Given the description of an element on the screen output the (x, y) to click on. 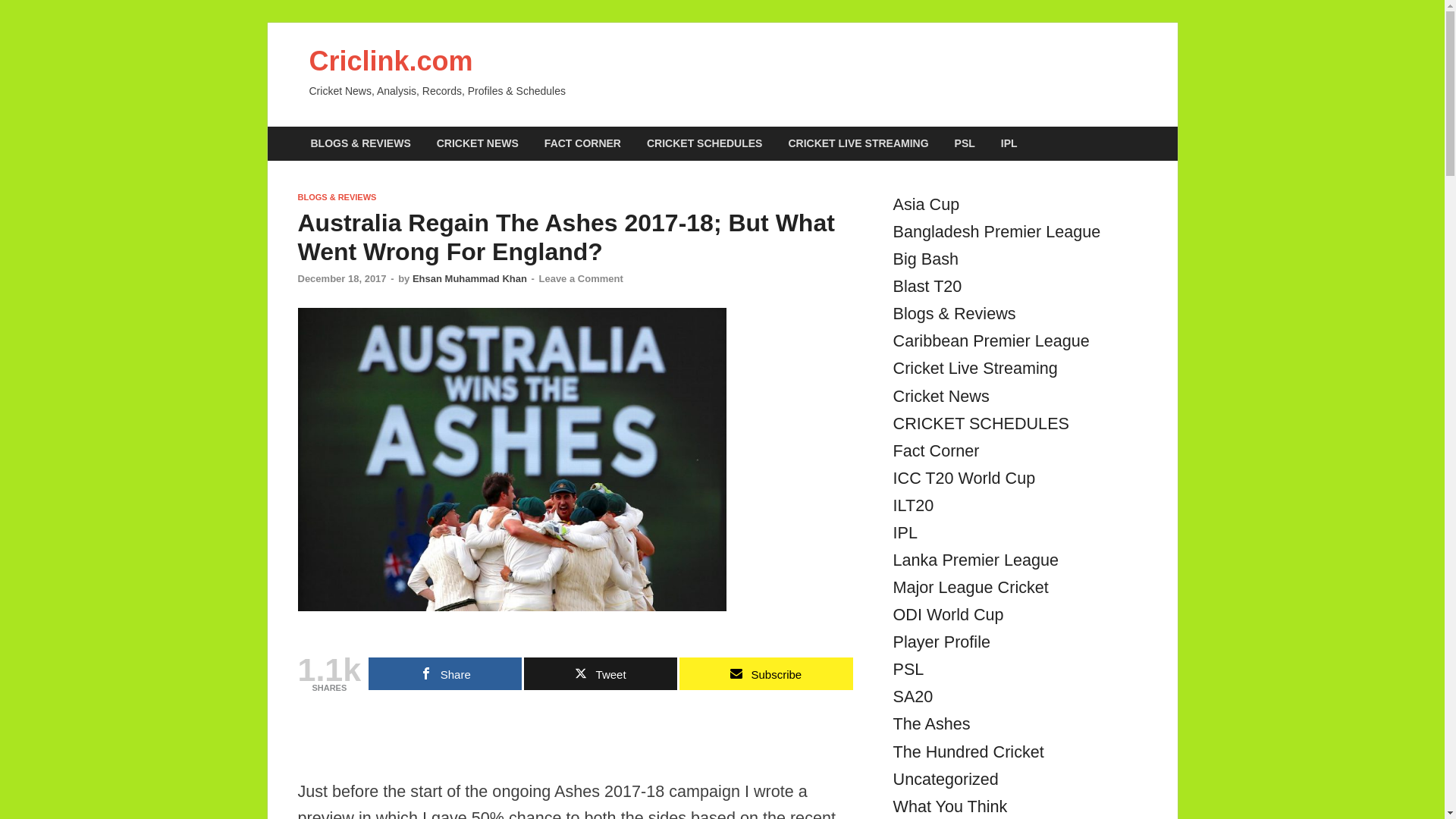
Caribbean Premier League (991, 340)
Cricket Live Streaming (975, 367)
FACT CORNER (582, 143)
Tweet (600, 673)
Criclink.com (390, 60)
Big Bash (925, 258)
IPL (1009, 143)
Ehsan Muhammad Khan (469, 278)
CRICKET SCHEDULES (703, 143)
Subscribe (766, 673)
December 18, 2017 (341, 278)
Asia Cup (926, 203)
Leave a Comment (580, 278)
CRICKET NEWS (477, 143)
CRICKET LIVE STREAMING (857, 143)
